Given the description of an element on the screen output the (x, y) to click on. 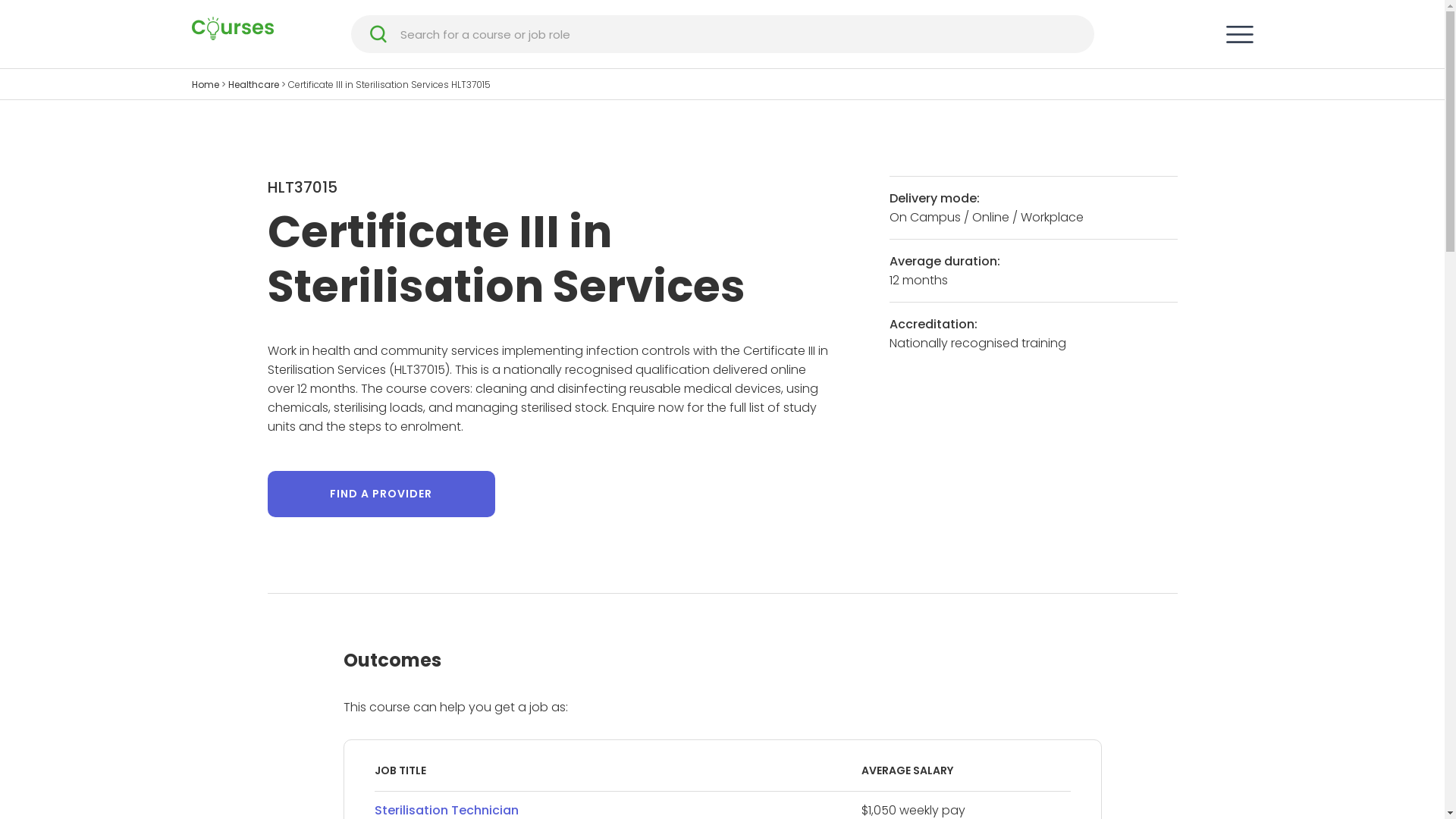
Certificate III in Sterilisation Services HLT37015 Element type: text (389, 84)
Healthcare Element type: text (252, 84)
Home Element type: text (204, 84)
FIND A PROVIDER Element type: text (380, 493)
Search for a course or job role Element type: text (738, 33)
